Given the description of an element on the screen output the (x, y) to click on. 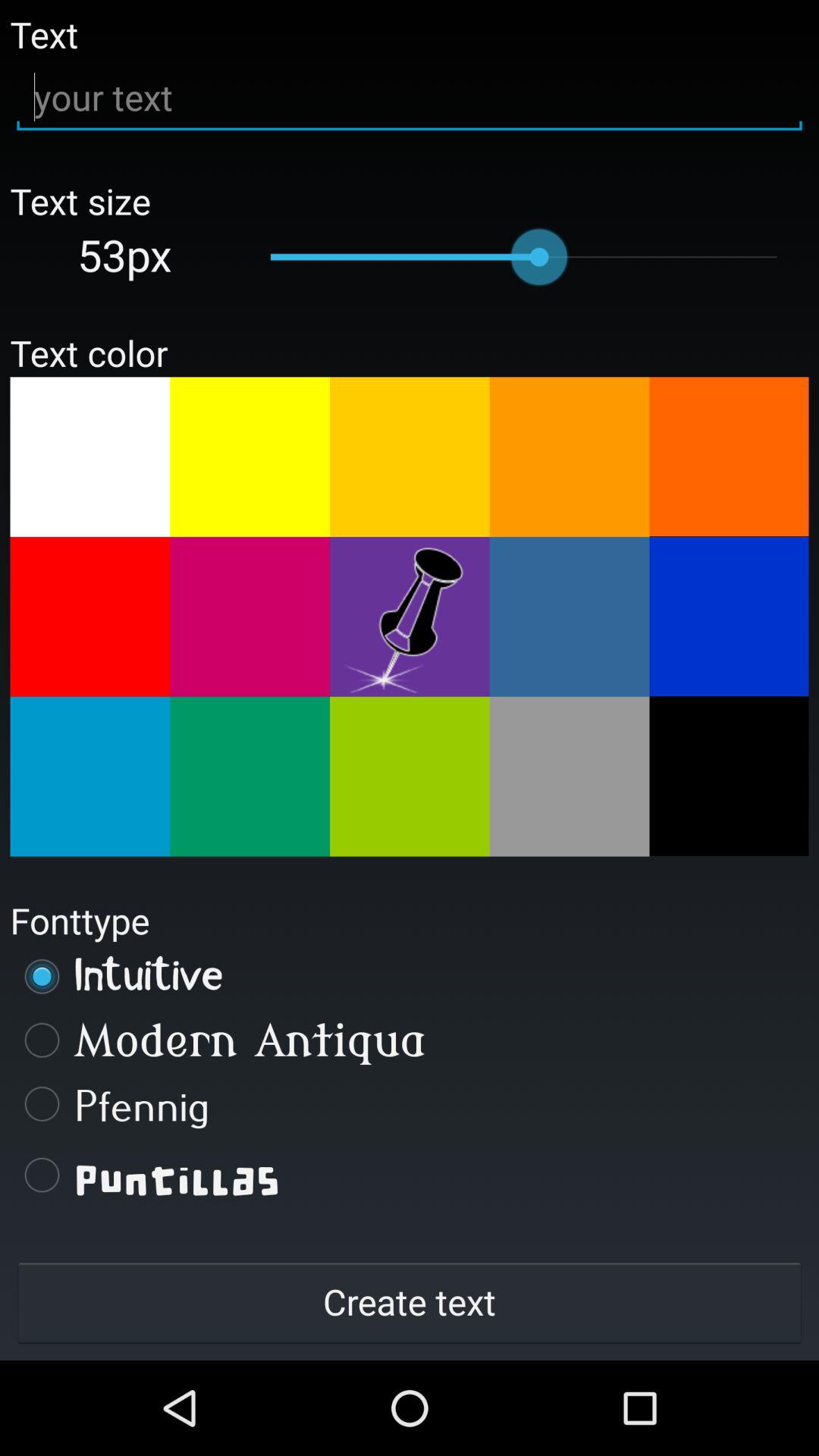
choose item above the puntillas item (409, 1103)
